Given the description of an element on the screen output the (x, y) to click on. 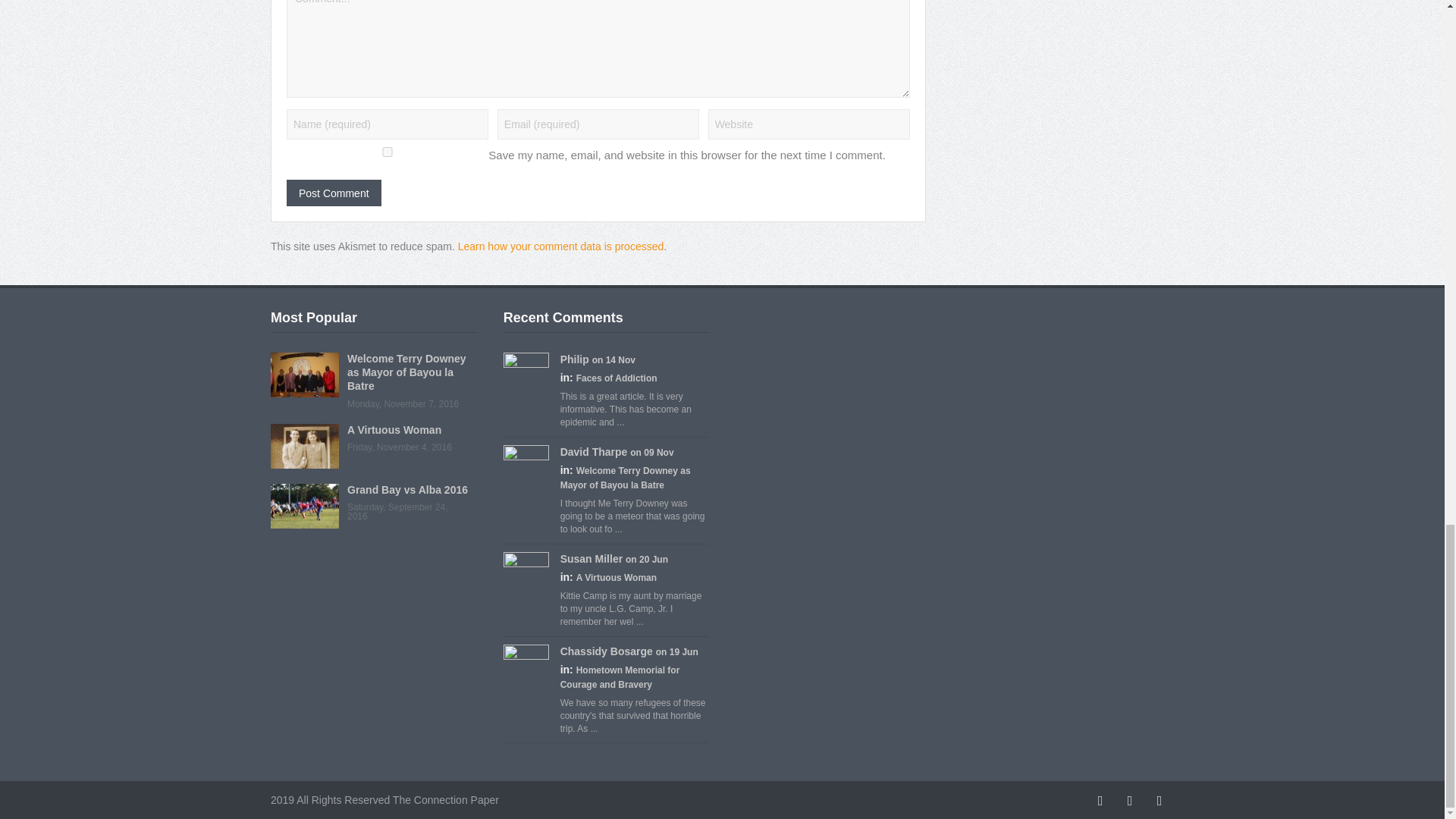
Susan Miller on A Virtuous Woman (525, 573)
Post Comment (333, 192)
Philip on Faces of Addiction (525, 374)
Susan Miller on A Virtuous Woman (591, 558)
yes (386, 152)
Philip on Faces of Addiction (574, 358)
